Given the description of an element on the screen output the (x, y) to click on. 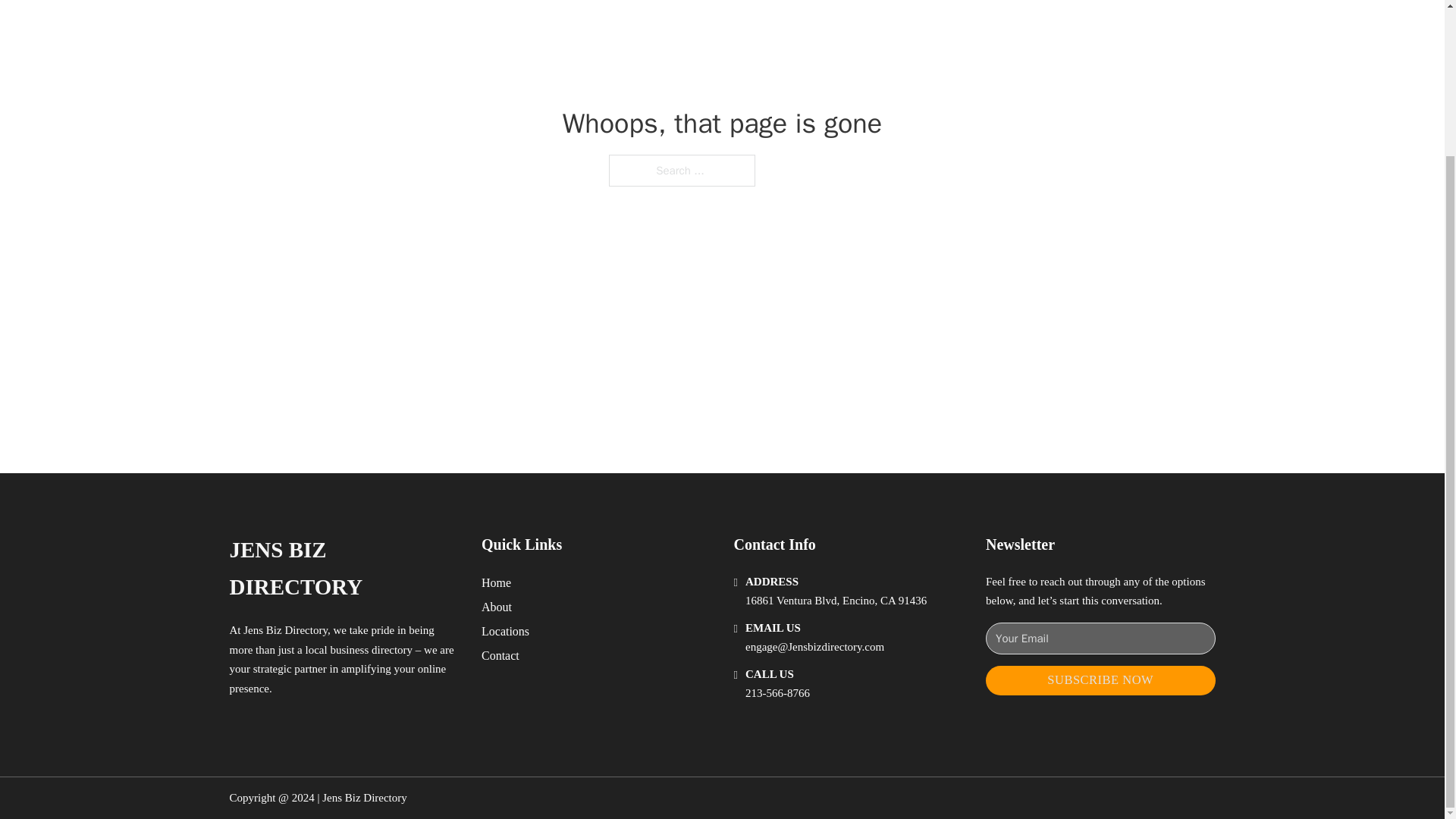
JENS BIZ DIRECTORY (343, 568)
Contact (500, 655)
About (496, 607)
SUBSCRIBE NOW (1100, 680)
Home (496, 582)
Locations (505, 630)
213-566-8766 (777, 693)
